Given the description of an element on the screen output the (x, y) to click on. 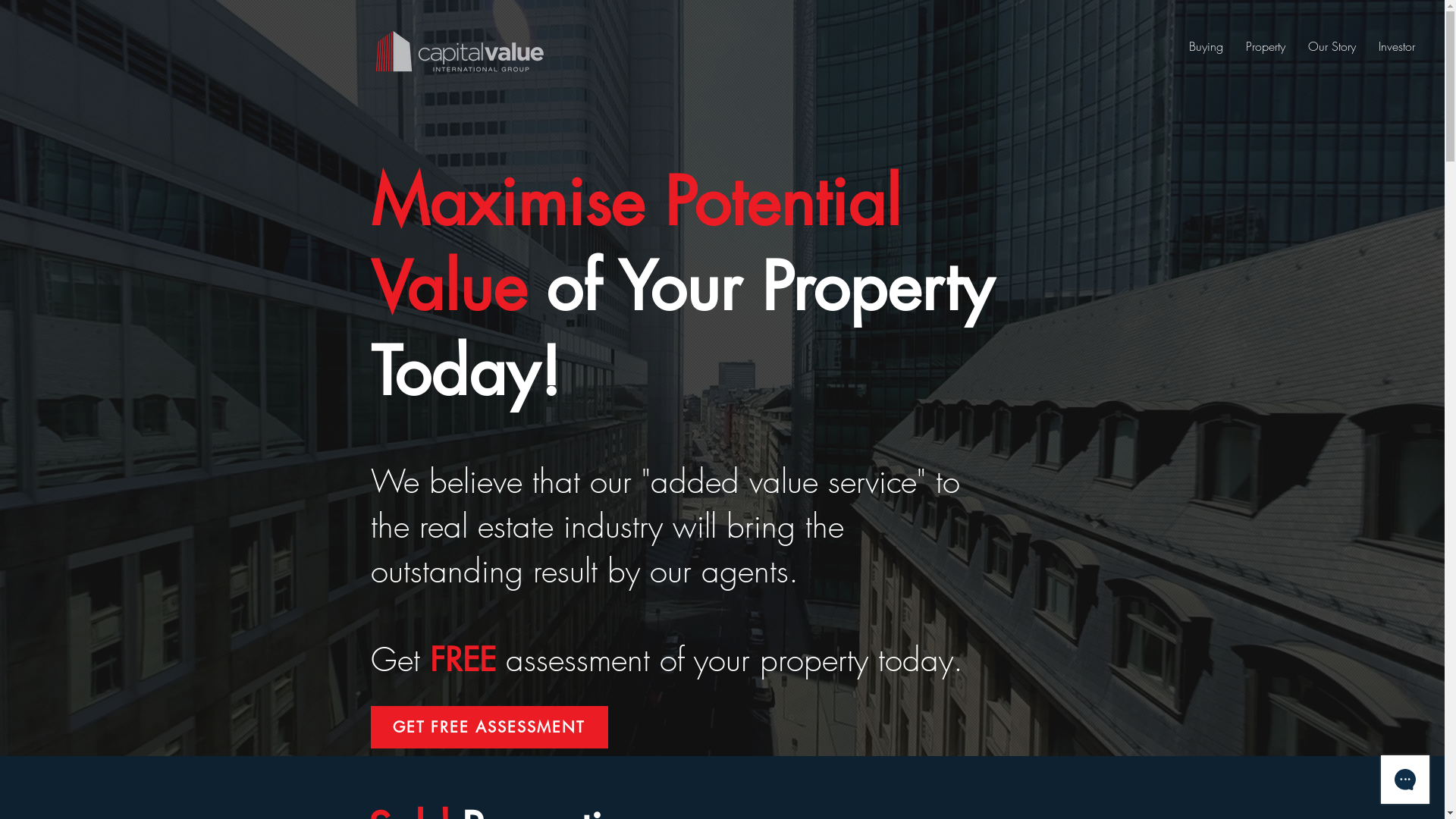
Investor Element type: text (1396, 46)
GET FREE ASSESSMENT Element type: text (488, 727)
Buying Element type: text (1205, 46)
Property Element type: text (1265, 46)
Our Story Element type: text (1331, 46)
Home page Element type: hover (458, 50)
